Given the description of an element on the screen output the (x, y) to click on. 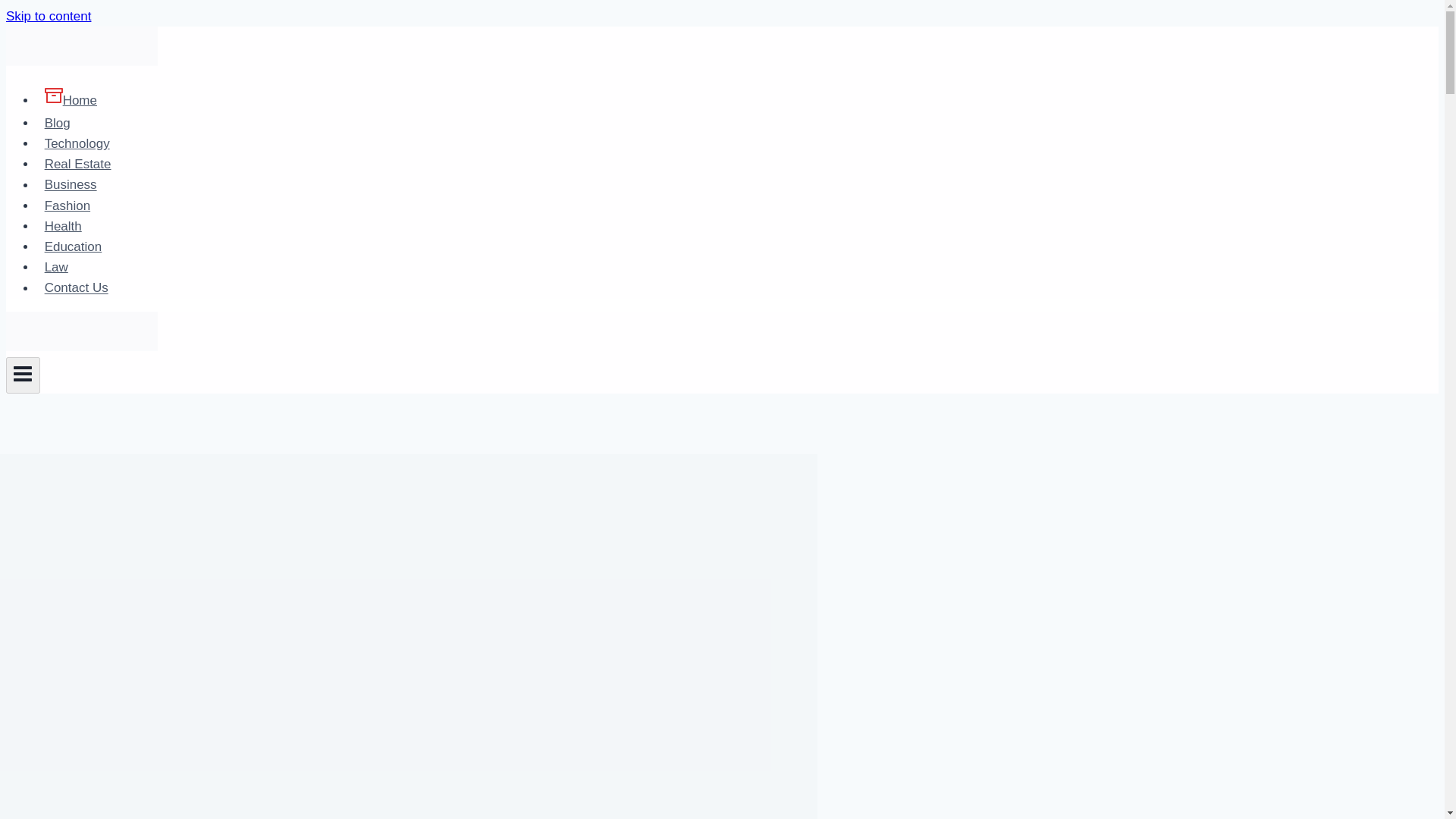
Skip to content (47, 16)
Fashion (67, 205)
Real Estate (77, 164)
Technology (76, 143)
Skip to content (47, 16)
Blog (57, 123)
Business (70, 184)
Health (62, 225)
Education (73, 246)
Toggle Menu (22, 375)
